Given the description of an element on the screen output the (x, y) to click on. 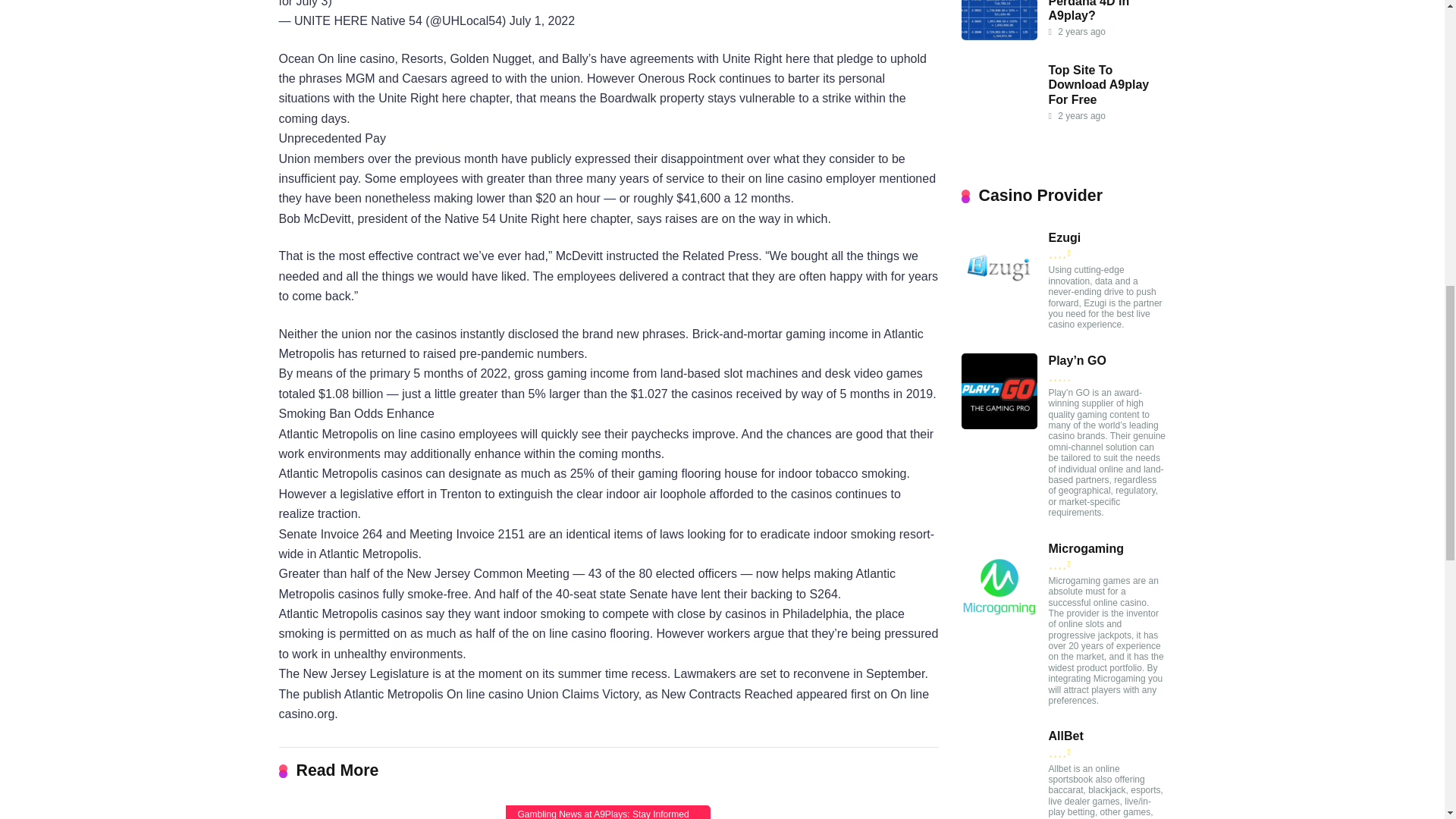
Gambling News at A9Plays: Stay Informed and Win Big (607, 812)
Are You Ready to Win the Jackpot at Perdana 4D in A9play? (998, 35)
Top Site To Download A9play For Free (1098, 84)
How to withdraw from A9play or A9 Today (835, 812)
Are You Ready to Win the Jackpot at Perdana 4D in A9play? (1101, 11)
A9 Play Casino Games : Top Benefits Of it (381, 812)
